Given the description of an element on the screen output the (x, y) to click on. 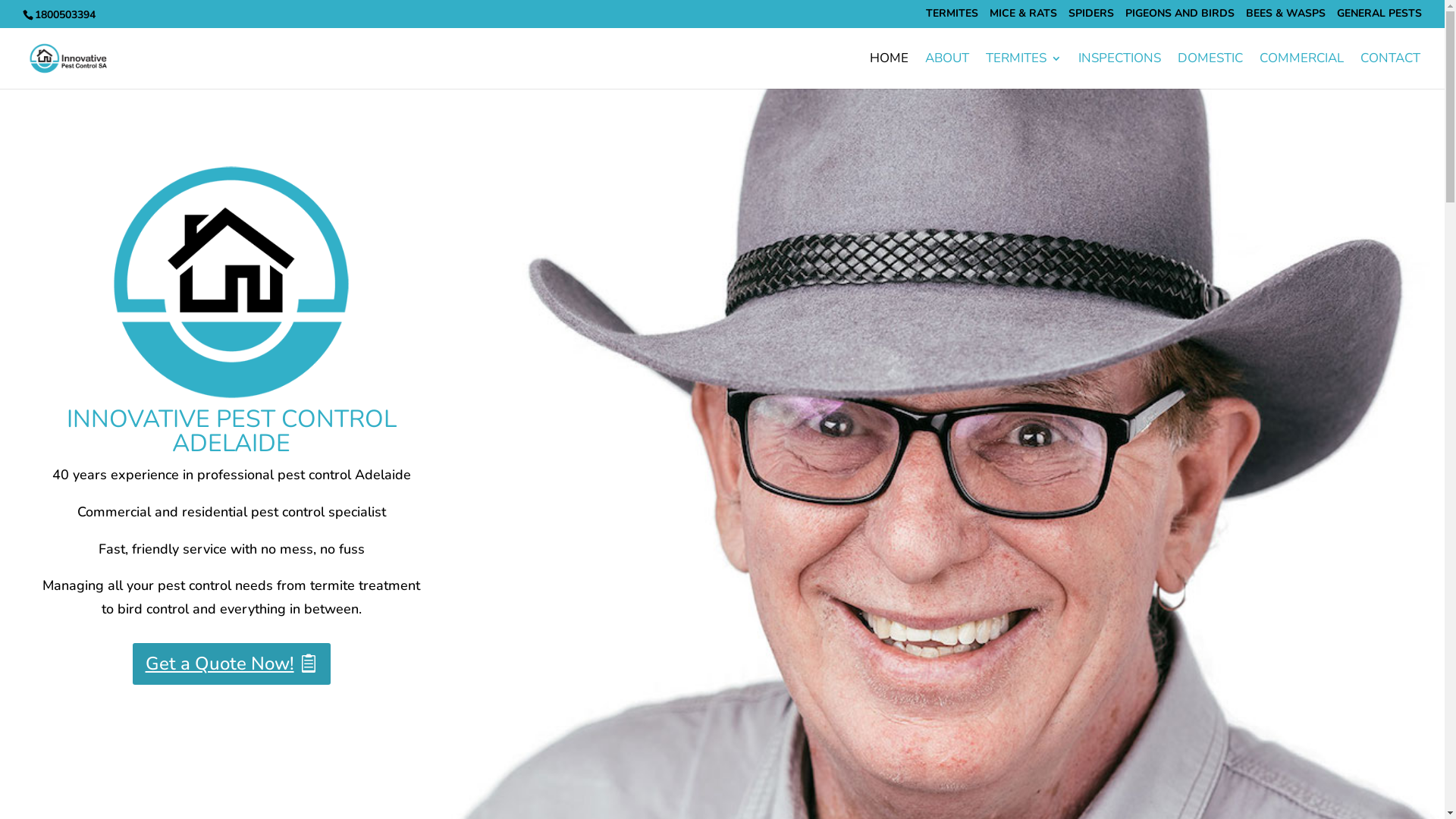
PIGEONS AND BIRDS Element type: text (1179, 16)
GENERAL PESTS Element type: text (1378, 16)
MICE & RATS Element type: text (1023, 16)
SPIDERS Element type: text (1090, 16)
Get a Quote Now! Element type: text (231, 663)
INSPECTIONS Element type: text (1119, 70)
TERMITES Element type: text (1023, 70)
CONTACT Element type: text (1390, 70)
1800503394 Element type: text (63, 14)
DOMESTIC Element type: text (1209, 70)
HOME Element type: text (888, 70)
BEES & WASPS Element type: text (1285, 16)
ABOUT Element type: text (947, 70)
TERMITES Element type: text (951, 16)
COMMERCIAL Element type: text (1301, 70)
